Given the description of an element on the screen output the (x, y) to click on. 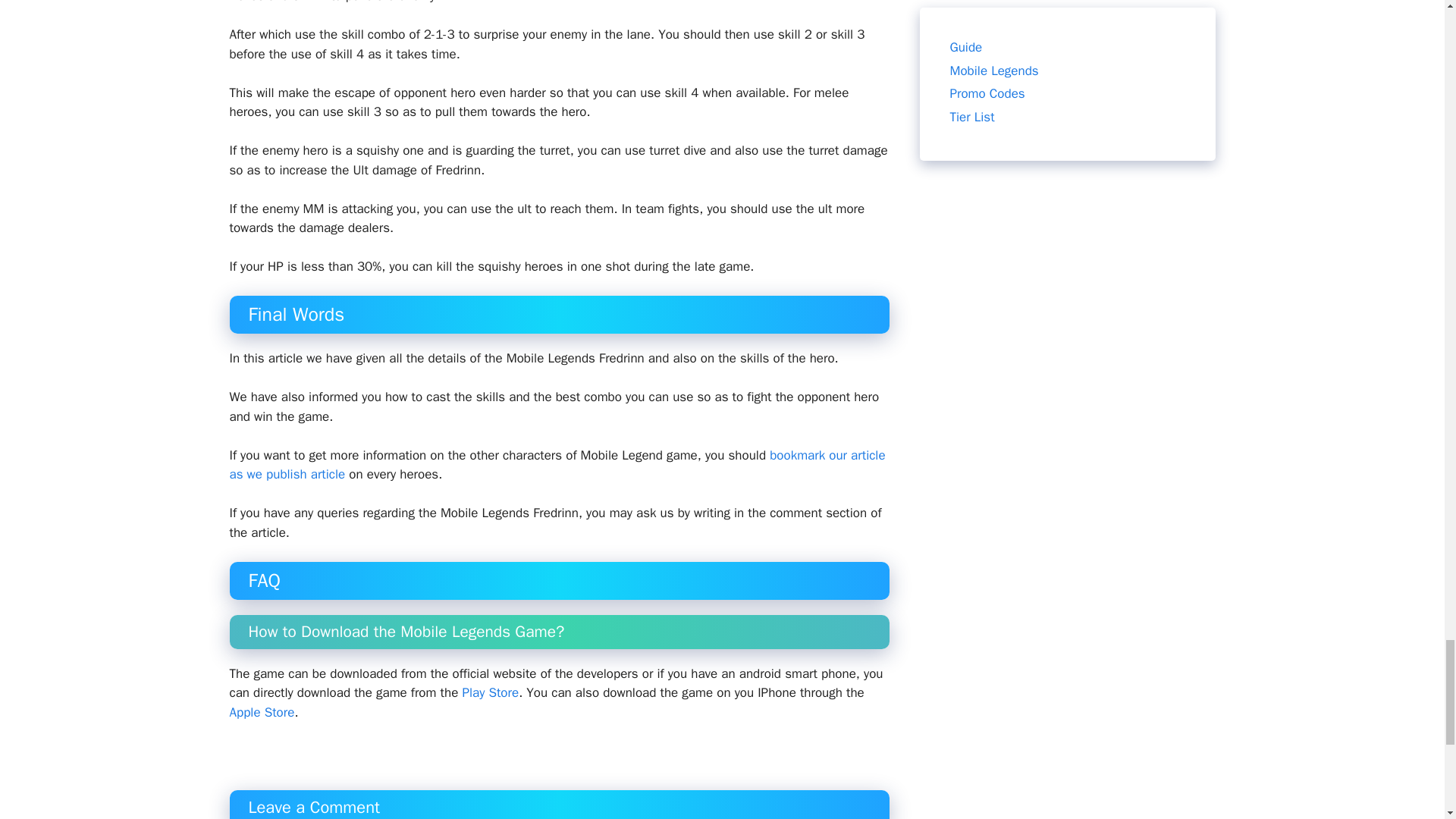
Apple Store (261, 712)
Play Store (489, 692)
bookmark our article as we publish article (556, 465)
